Given the description of an element on the screen output the (x, y) to click on. 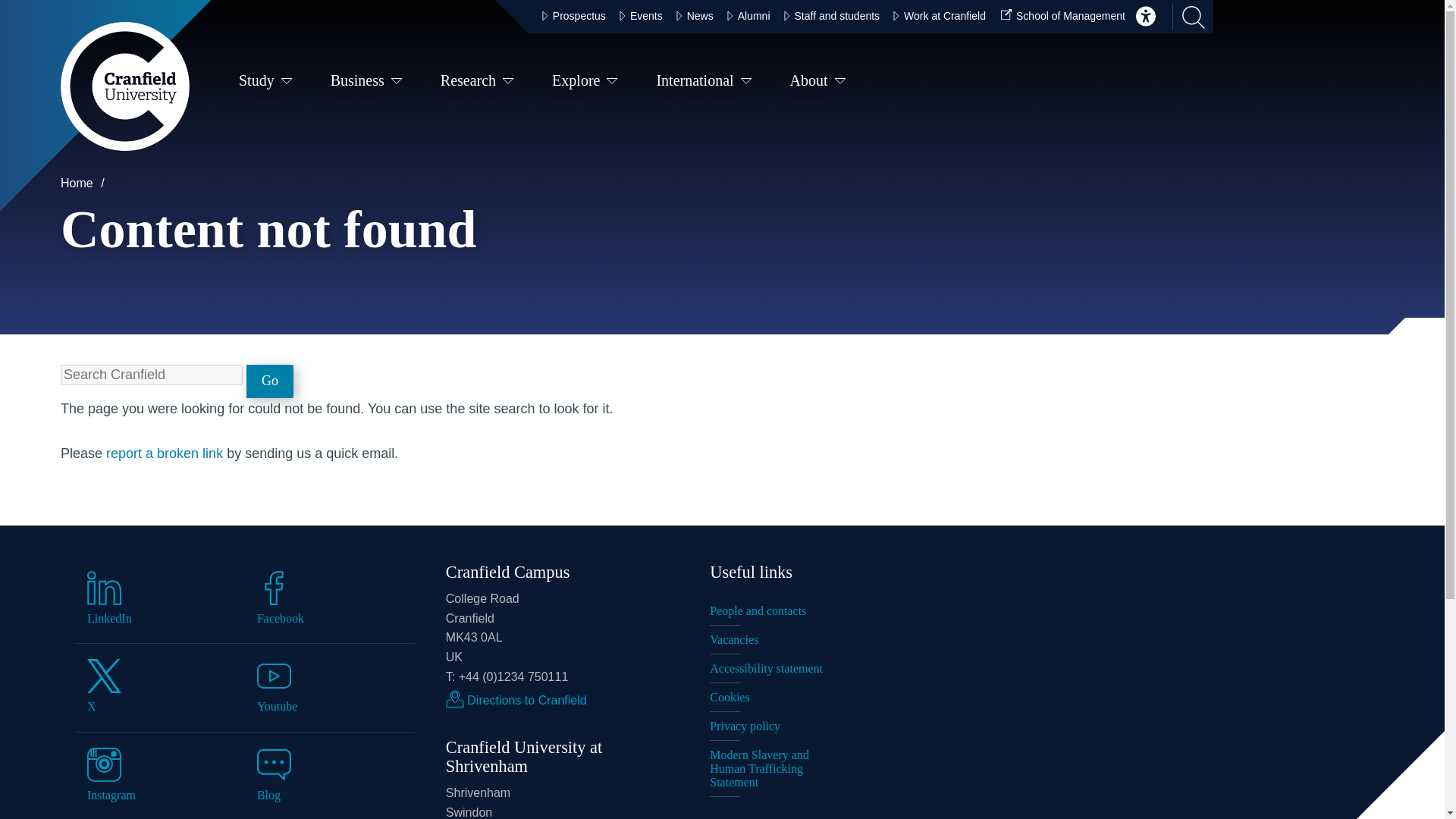
Open Search Bar (1188, 16)
Vacancies (774, 639)
Go (270, 381)
Return to Cranfield University Home (125, 86)
Study (265, 83)
